Given the description of an element on the screen output the (x, y) to click on. 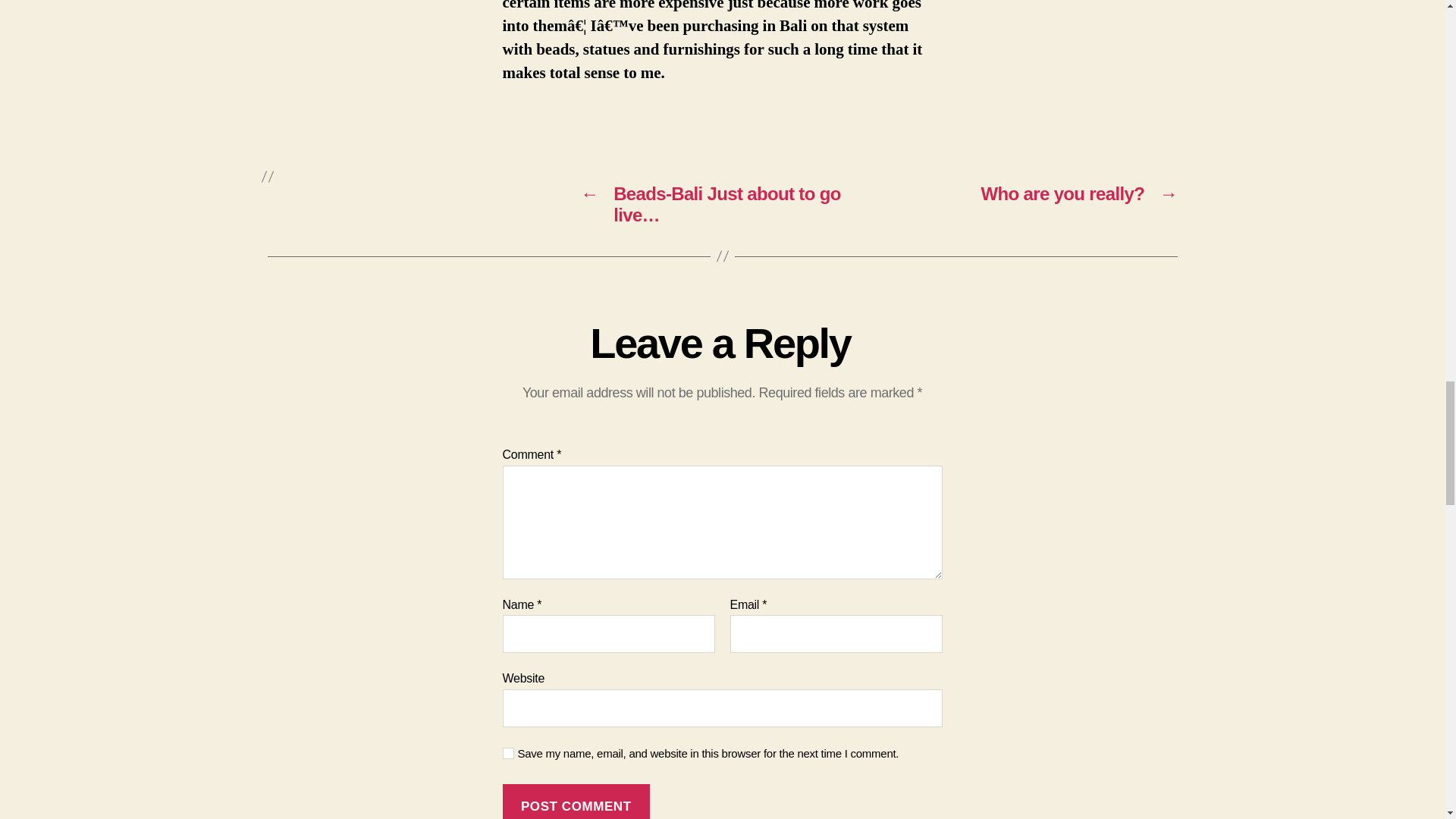
Post Comment (575, 801)
Post Comment (575, 801)
yes (507, 753)
